Given the description of an element on the screen output the (x, y) to click on. 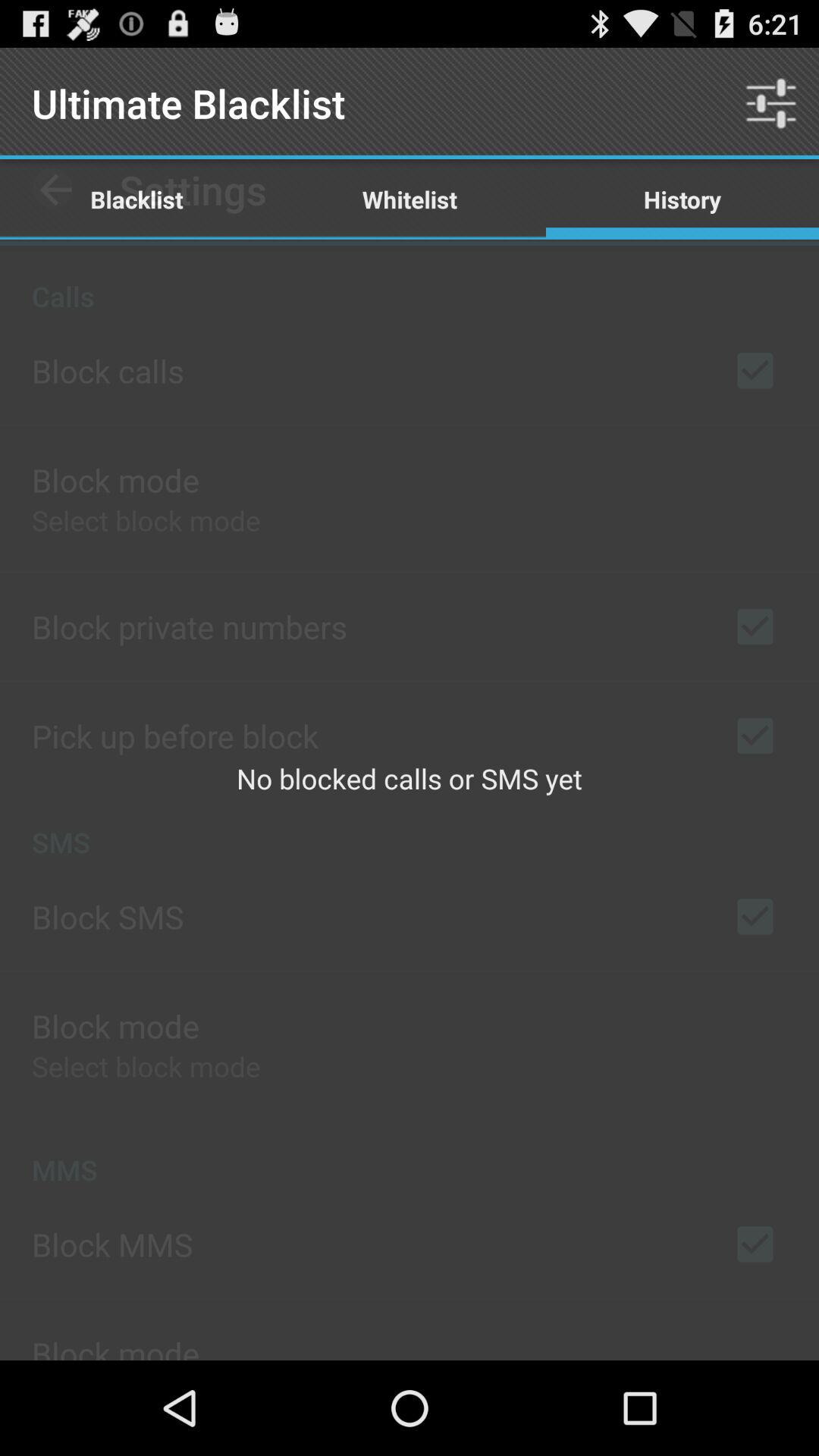
click the history icon (682, 199)
